Given the description of an element on the screen output the (x, y) to click on. 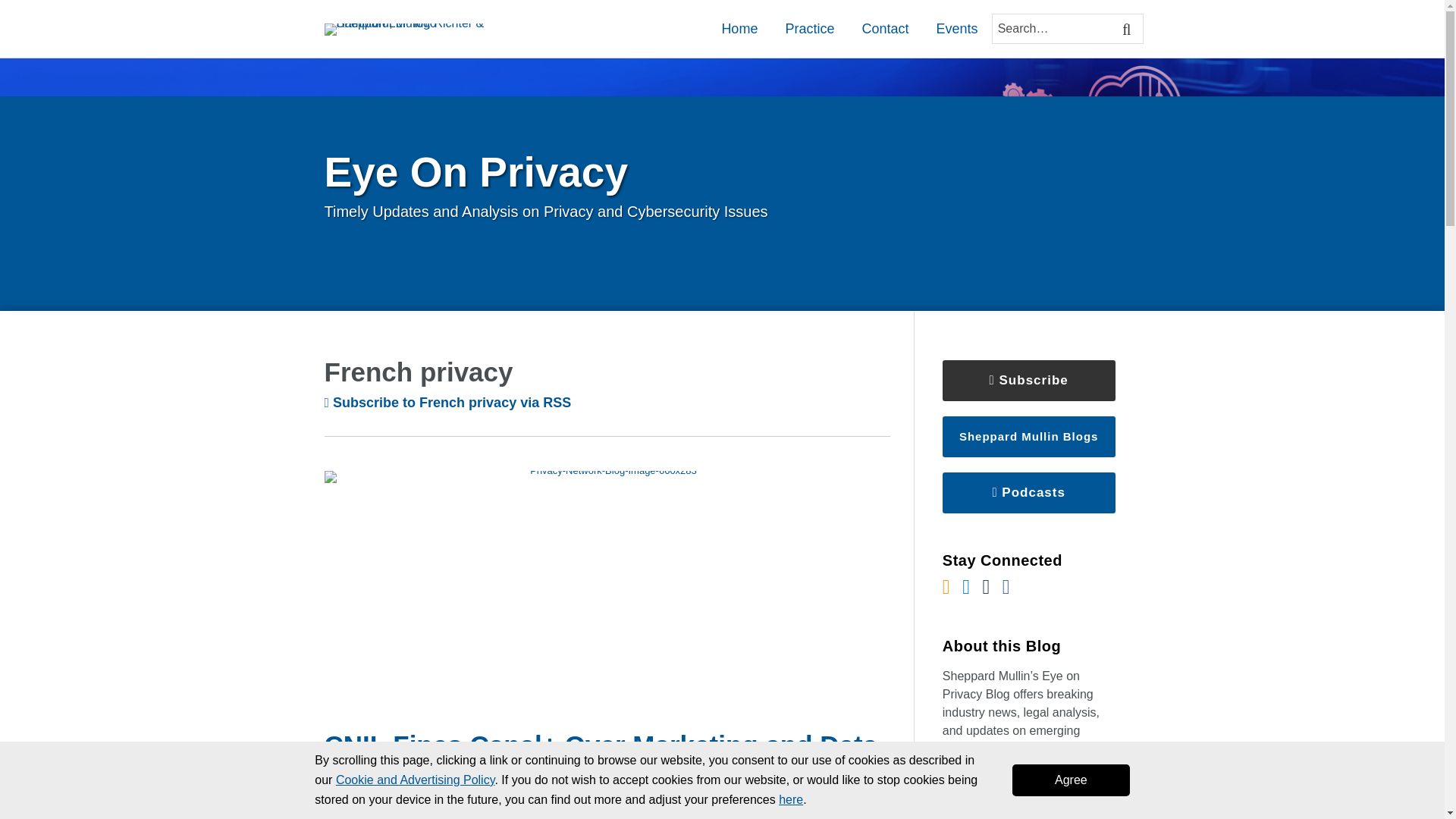
Eye On Privacy (476, 171)
SEARCH (1128, 28)
Events (956, 28)
Liisa Thomas (377, 815)
Practice (809, 28)
Home (738, 28)
Subscribe to French privacy via RSS (448, 401)
Agree (1070, 780)
Cookie and Advertising Policy (415, 779)
here (790, 799)
